Given the description of an element on the screen output the (x, y) to click on. 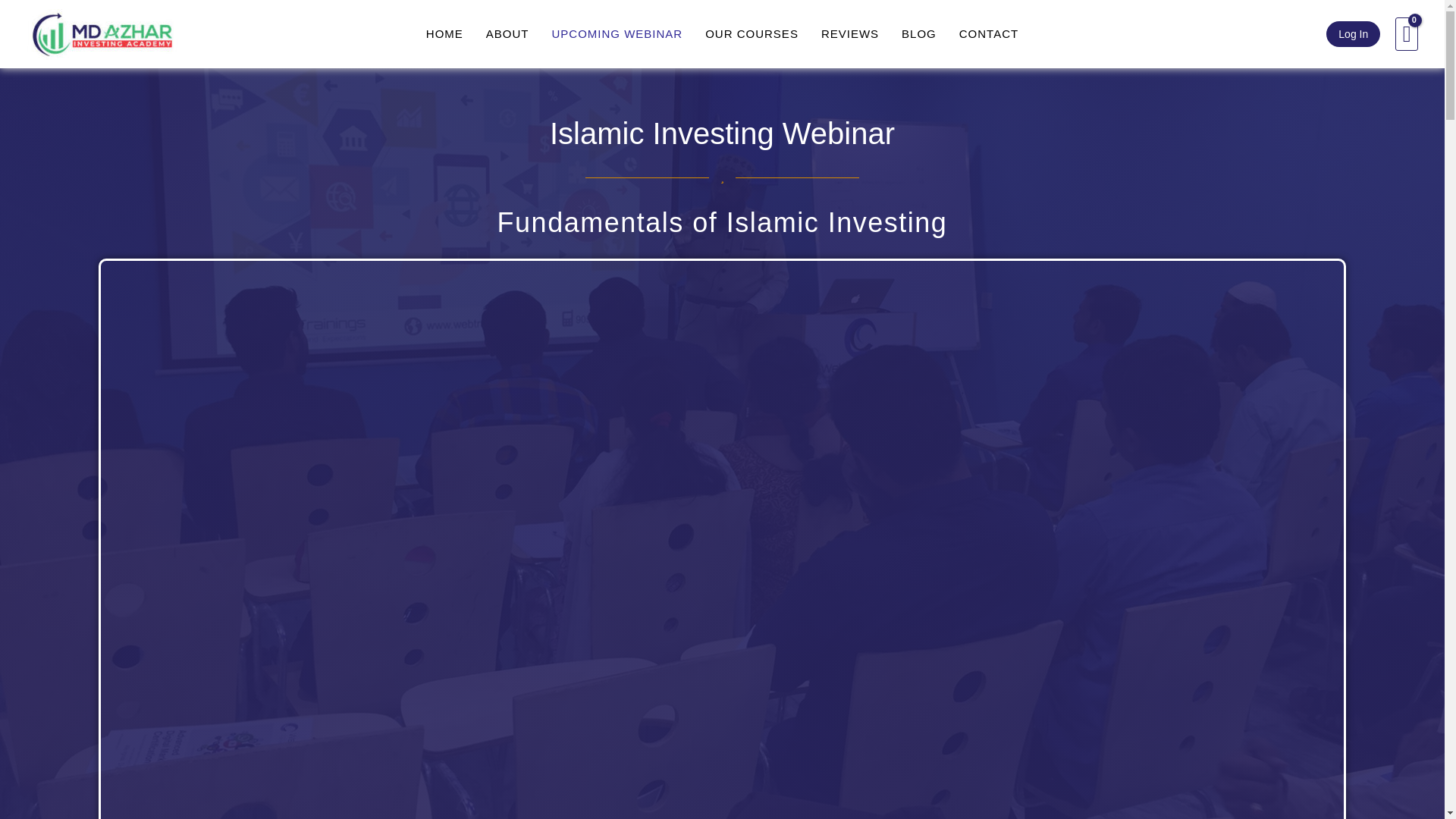
OUR COURSES (751, 33)
Log In (1353, 33)
ABOUT (507, 33)
REVIEWS (849, 33)
HOME (444, 33)
CONTACT (988, 33)
UPCOMING WEBINAR (617, 33)
BLOG (918, 33)
